Given the description of an element on the screen output the (x, y) to click on. 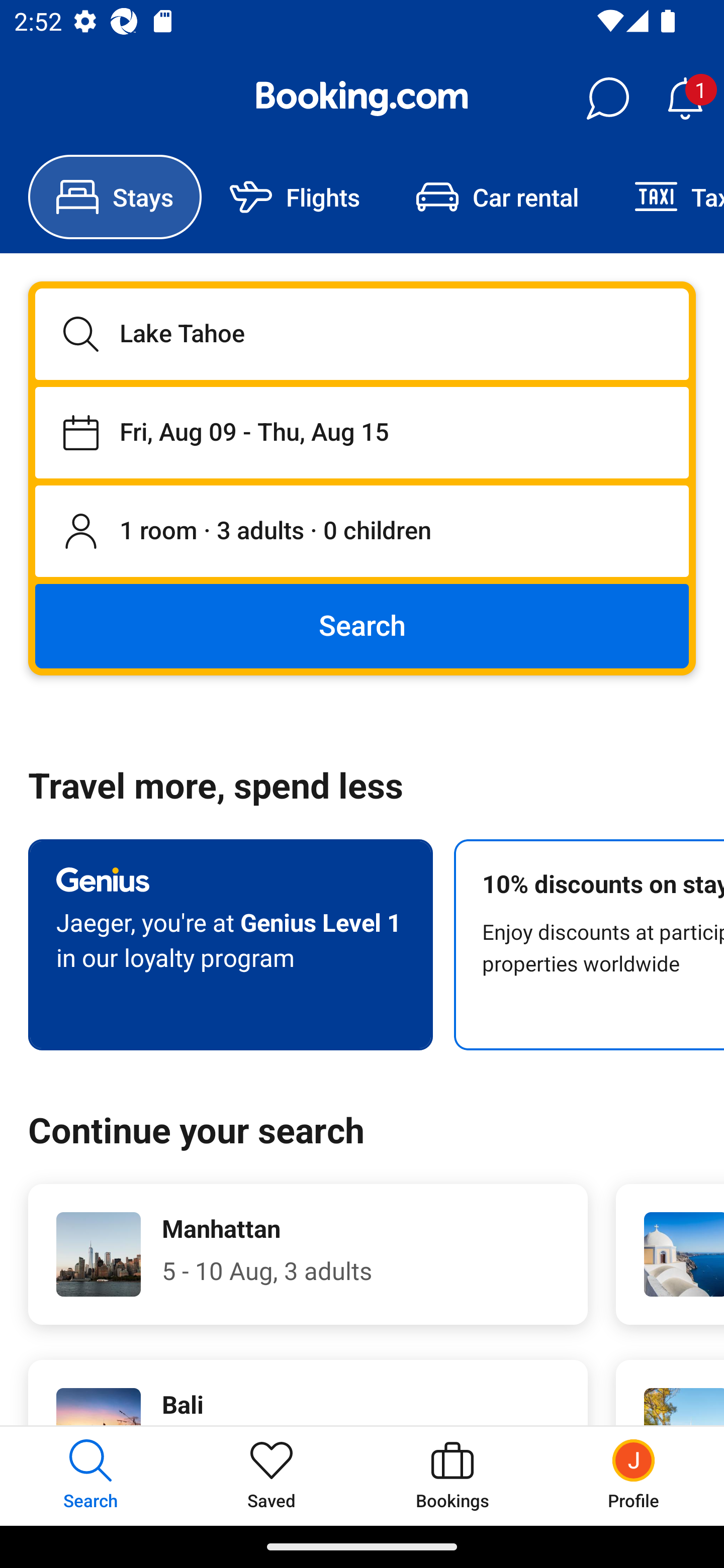
Messages (607, 98)
Notifications (685, 98)
Stays (114, 197)
Flights (294, 197)
Car rental (497, 197)
Taxi (665, 197)
Lake Tahoe (361, 333)
Staying from Fri, Aug 09 until Thu, Aug 15 (361, 432)
1 room, 3 adults, 0 children (361, 531)
Search (361, 625)
Manhattan 5 - 10 Aug, 3 adults (307, 1253)
Saved (271, 1475)
Bookings (452, 1475)
Profile (633, 1475)
